Given the description of an element on the screen output the (x, y) to click on. 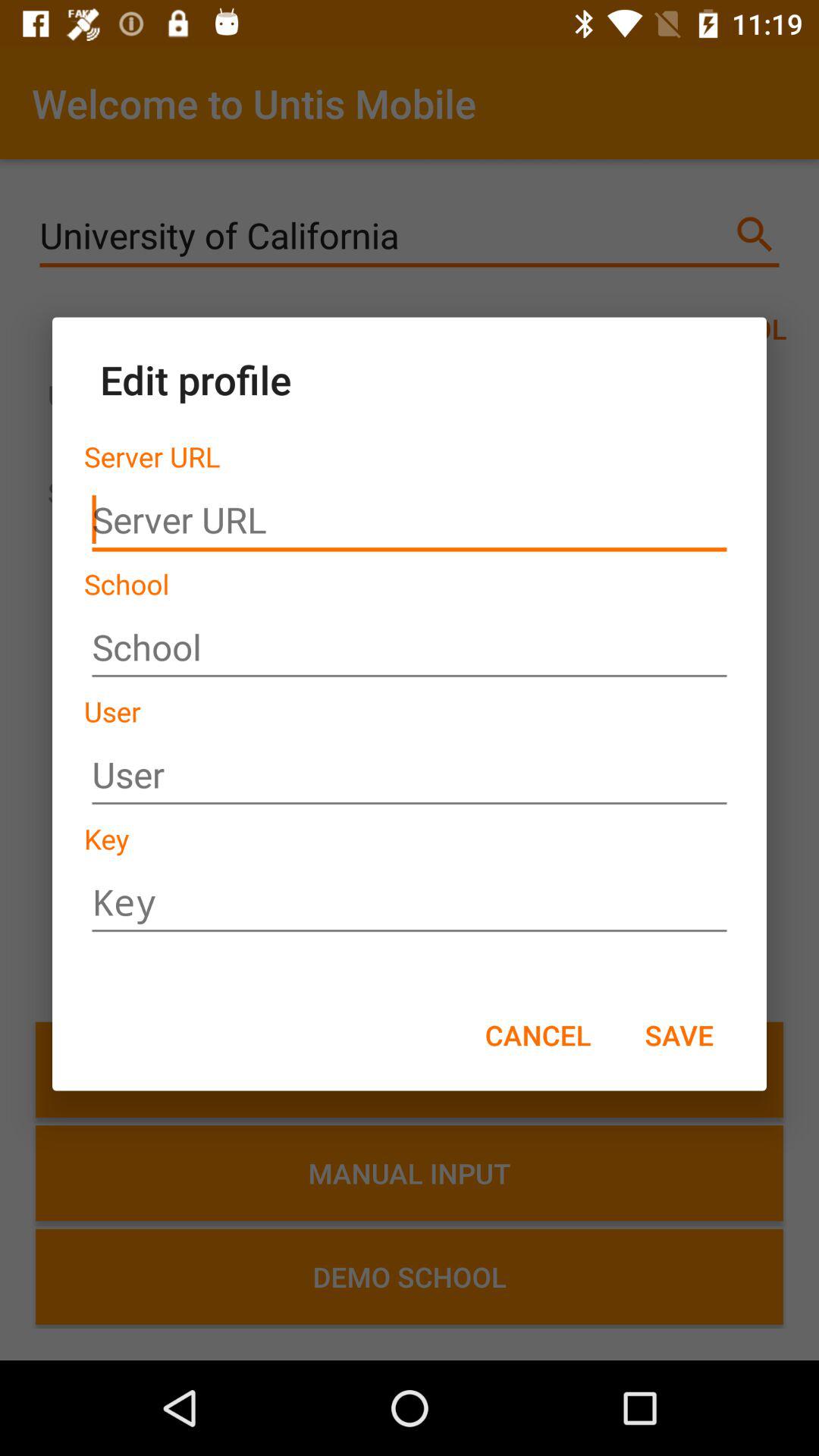
add key code (409, 902)
